Given the description of an element on the screen output the (x, y) to click on. 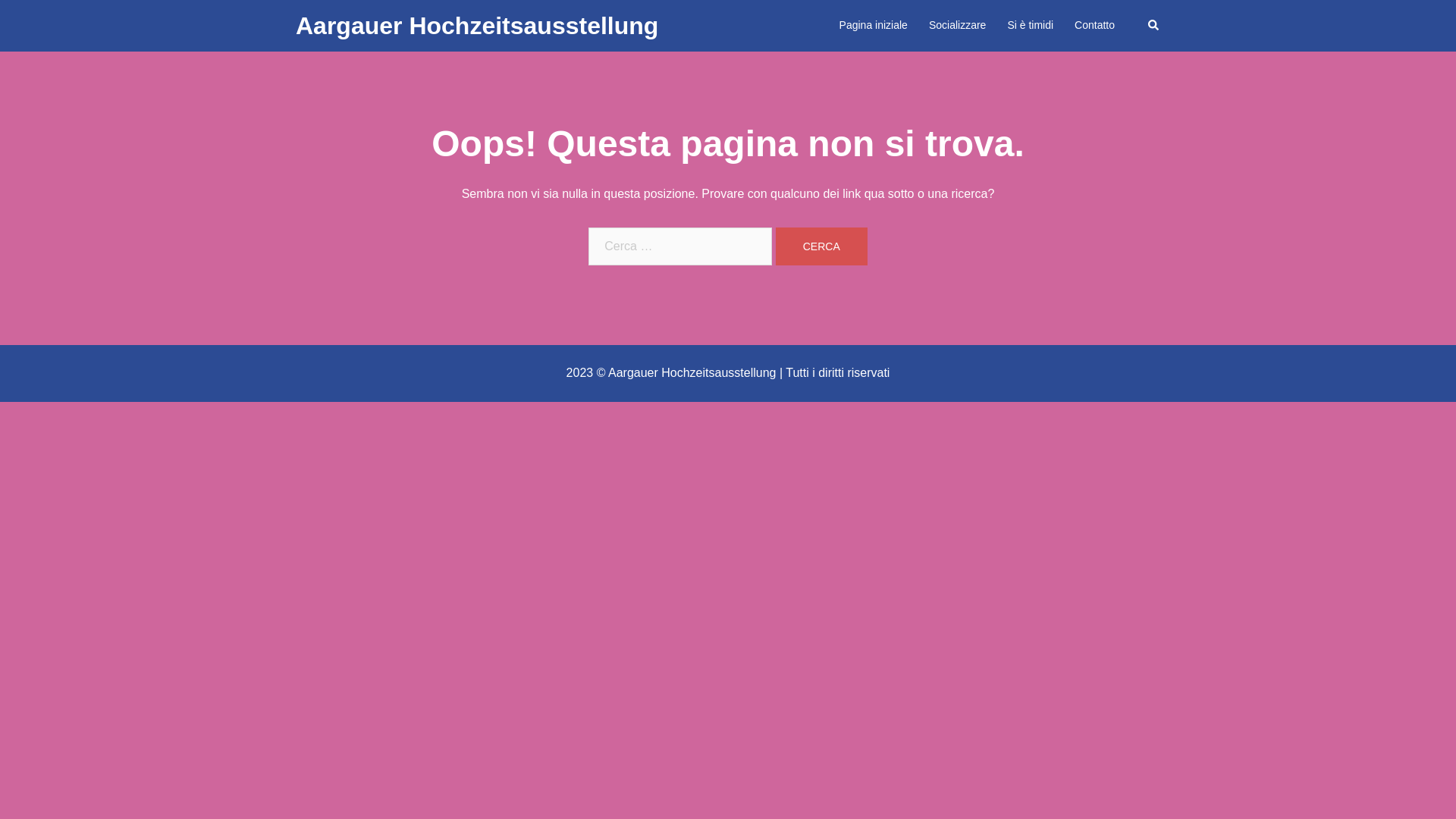
Cerca Element type: text (821, 246)
Contatto Element type: text (1094, 25)
Aargauer Hochzeitsausstellung Element type: text (476, 25)
Pagina iniziale Element type: text (873, 25)
Socializzare Element type: text (956, 25)
Cerca Element type: text (1154, 25)
